Given the description of an element on the screen output the (x, y) to click on. 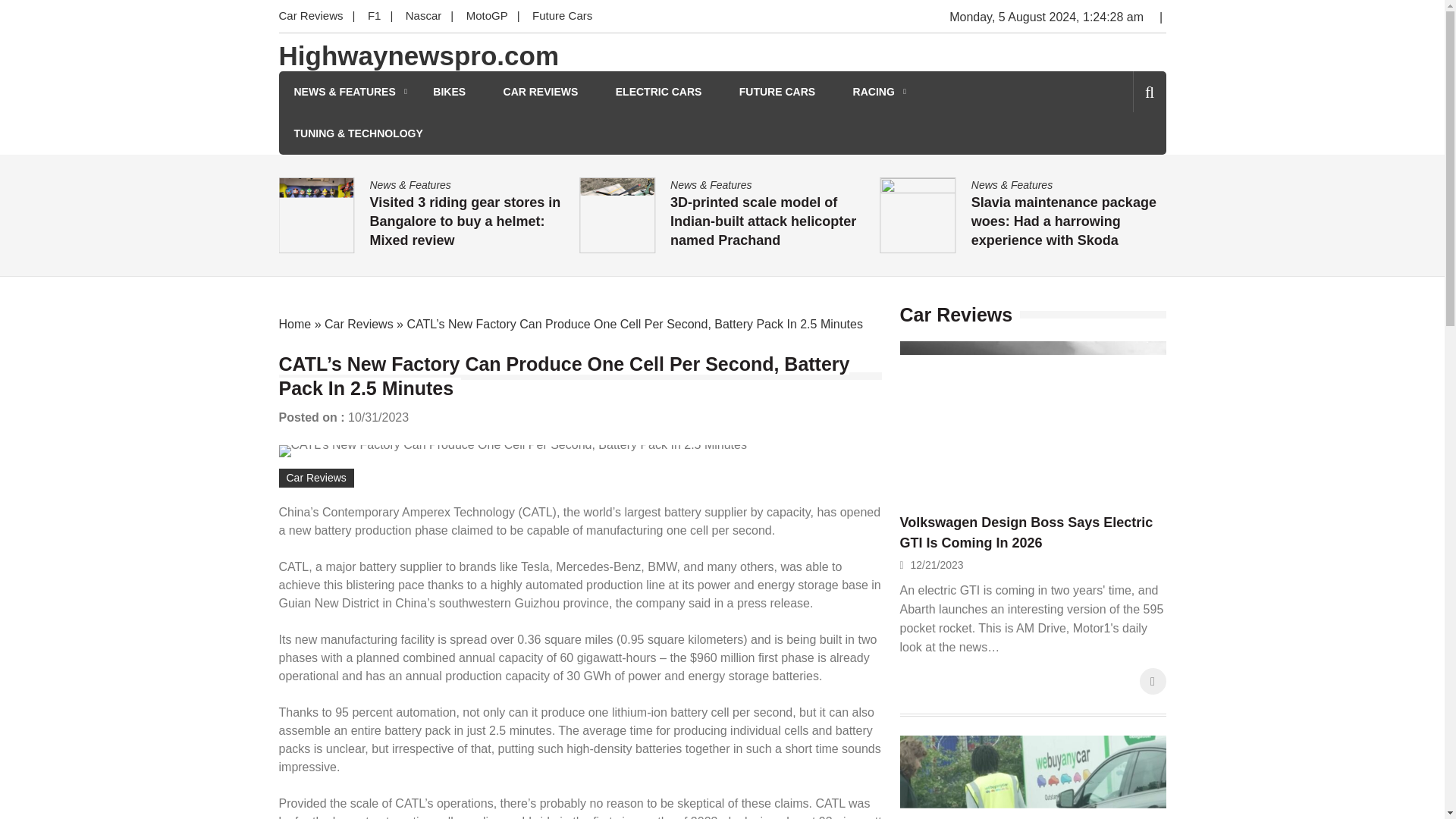
FUTURE CARS (777, 92)
Nascar (423, 16)
F1 (374, 16)
ELECTRIC CARS (658, 92)
CAR REVIEWS (540, 92)
Highwaynewspro.com (419, 55)
RACING (874, 92)
Future Cars (561, 16)
MotoGP (486, 16)
Search (1123, 156)
Car Reviews (315, 16)
